Given the description of an element on the screen output the (x, y) to click on. 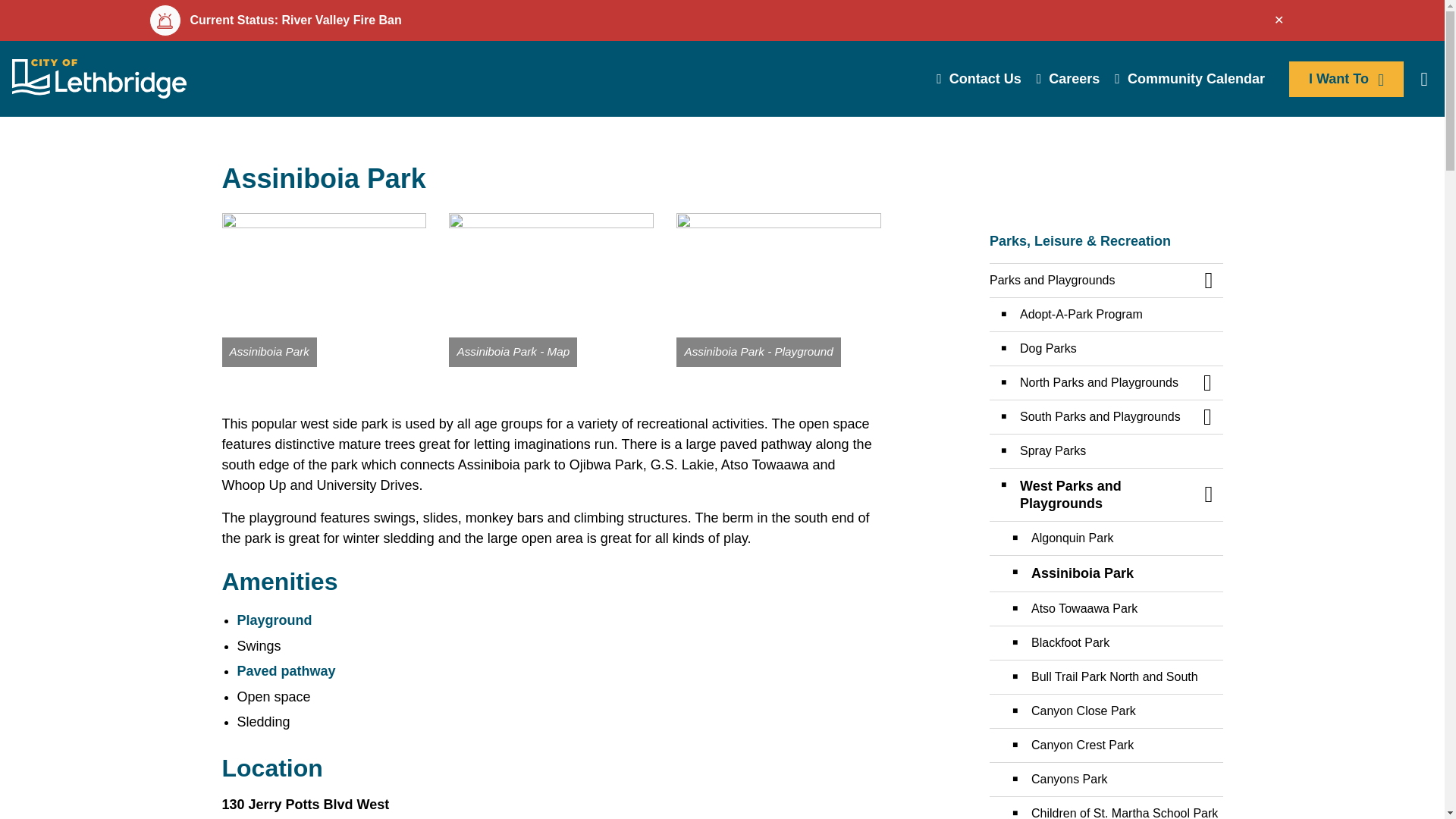
Current Status: River Valley Fire Ban (720, 20)
Trails and Pathways (284, 670)
Contact Us (978, 78)
City of Lethbridge (98, 78)
Playground (273, 620)
Parks and Playgrounds (273, 620)
Toggle Section (1207, 382)
Community Calendar (1189, 78)
Dog Parks (1106, 348)
North Parks and Playgrounds (1091, 382)
